Given the description of an element on the screen output the (x, y) to click on. 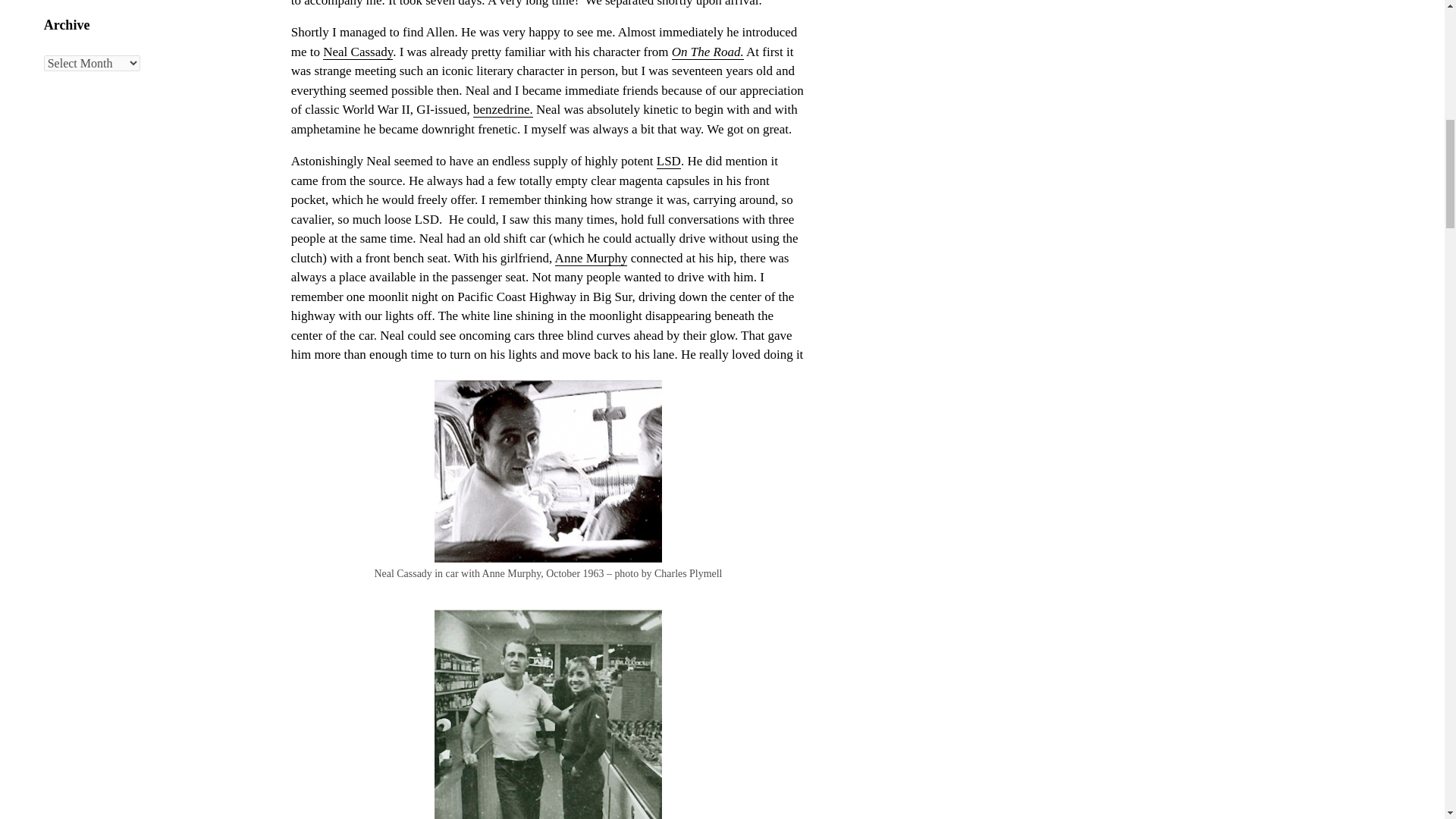
Neal Cassady (358, 52)
LSD (668, 160)
benzedrine. (502, 109)
On The Road. (707, 52)
Anne Murphy (590, 258)
